Given the description of an element on the screen output the (x, y) to click on. 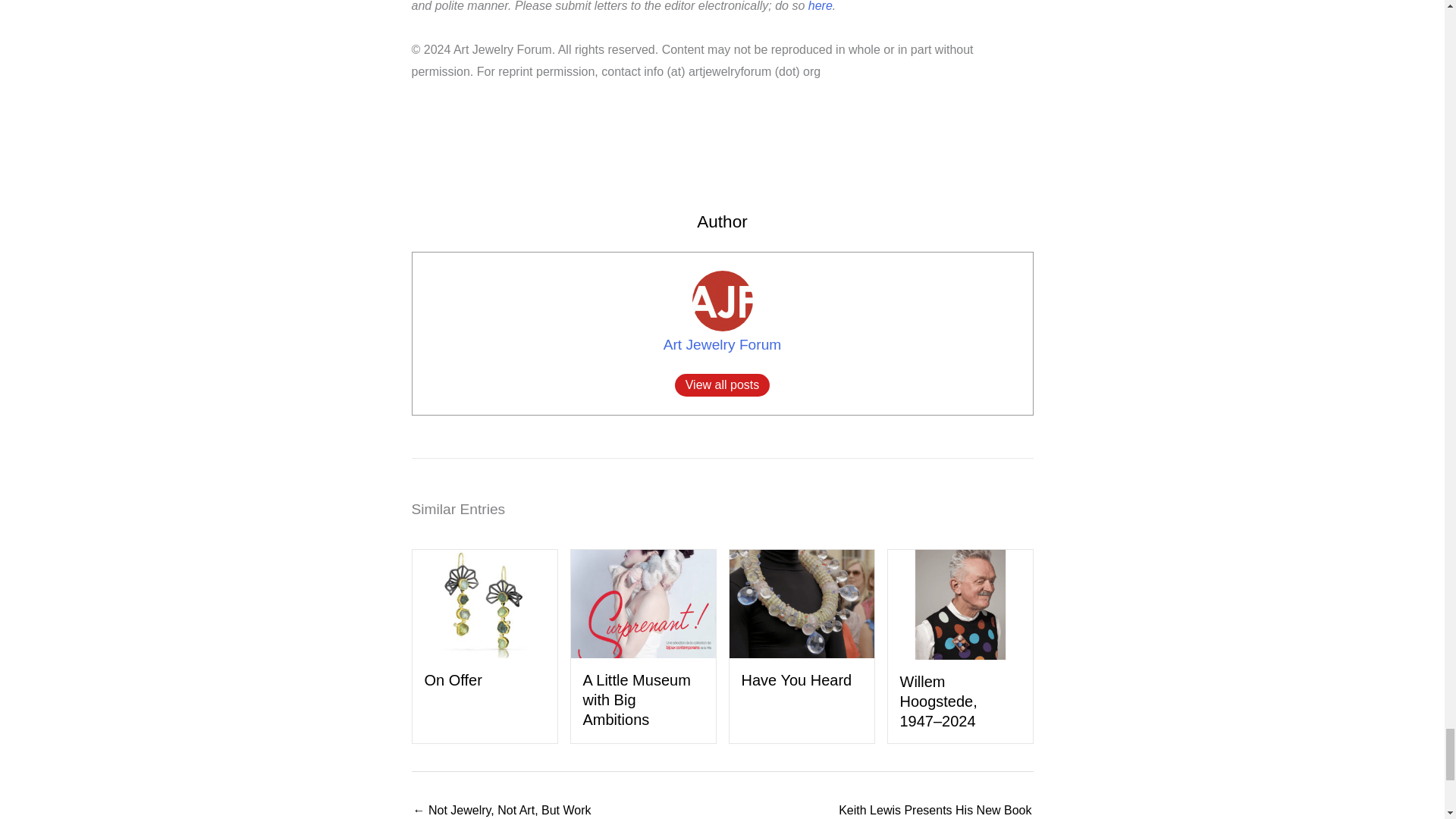
Art Jewelry Forum (722, 344)
View all posts (722, 384)
On Offer (453, 679)
Have You Heard (802, 602)
A Little Museum with Big Ambitions (636, 699)
A Little Museum with Big Ambitions (642, 602)
On Offer (484, 602)
Have You Heard (796, 679)
